Given the description of an element on the screen output the (x, y) to click on. 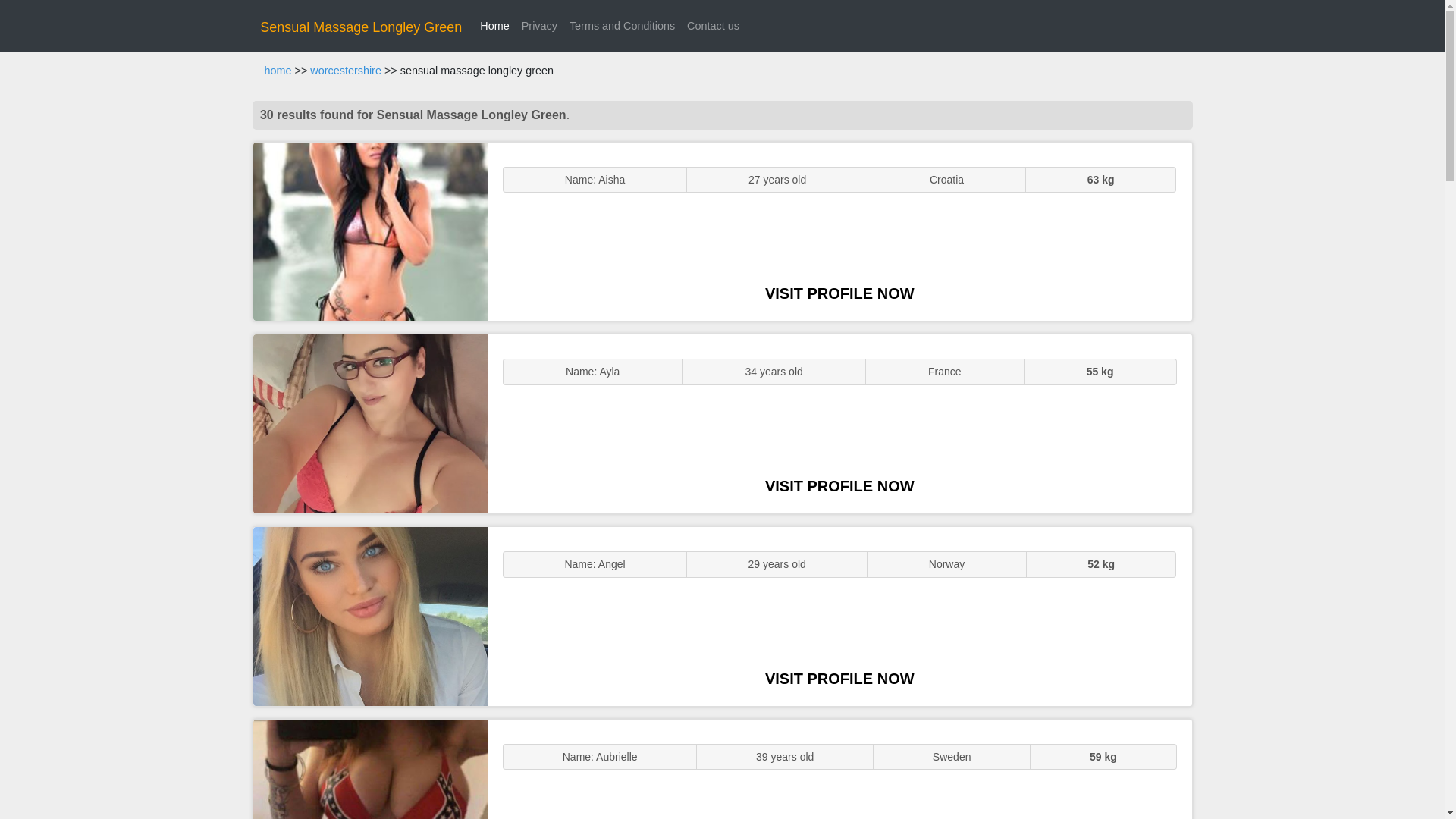
Sexy (370, 616)
VISIT PROFILE NOW (839, 293)
GFE (370, 423)
Terms and Conditions (622, 25)
VISIT PROFILE NOW (839, 485)
Sluts (370, 769)
worcestershire (345, 70)
 ENGLISH STUNNER (370, 231)
Privacy (539, 25)
Sensual Massage Longley Green (360, 27)
